Given the description of an element on the screen output the (x, y) to click on. 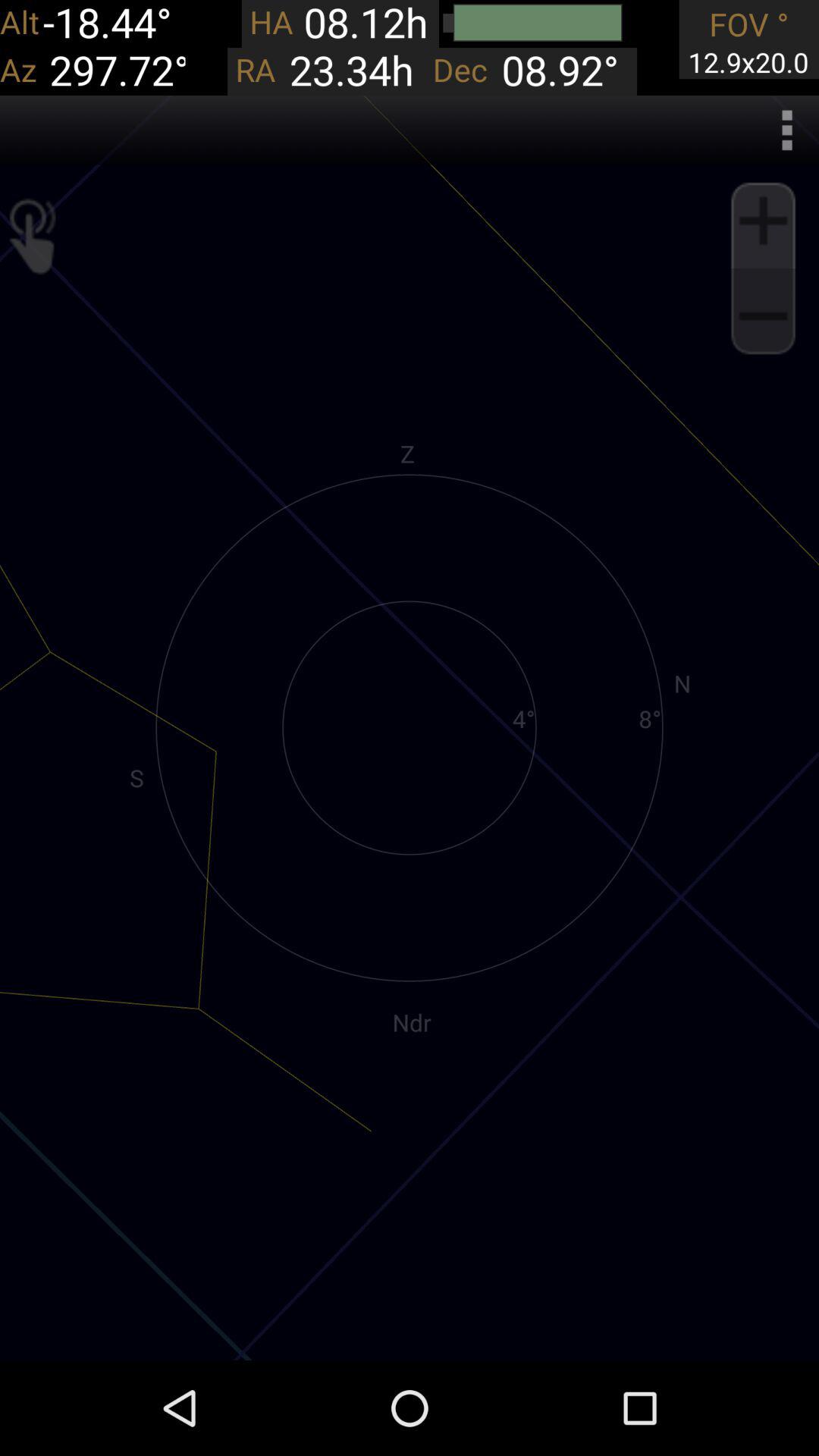
zoom out go back maximize area image (763, 316)
